Given the description of an element on the screen output the (x, y) to click on. 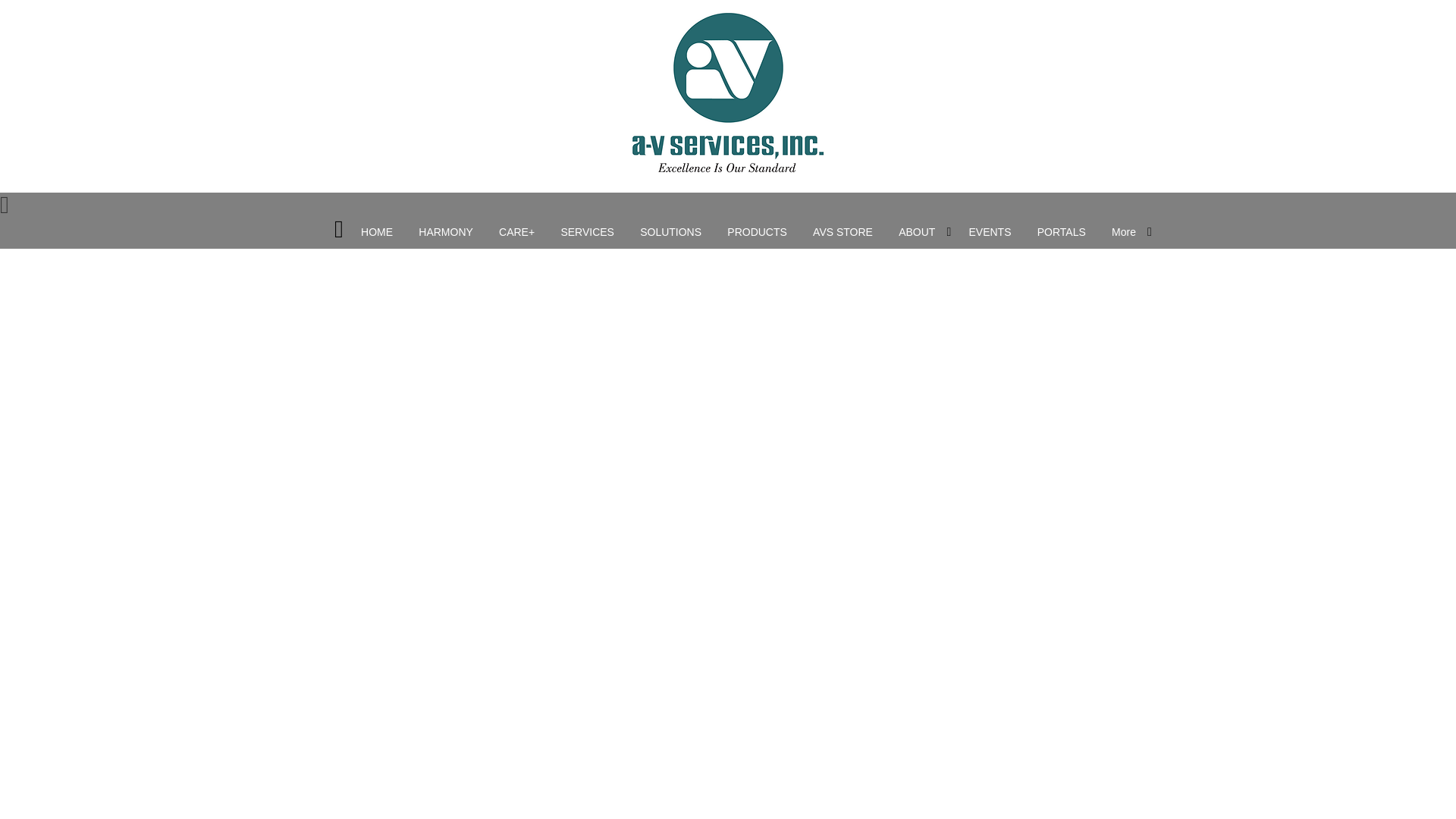
ABOUT (916, 232)
SERVICES (587, 232)
HOME (376, 232)
More (1123, 232)
EVENTS (989, 232)
HARMONY (445, 232)
PORTALS (1061, 232)
AVS STORE (842, 232)
SOLUTIONS (670, 232)
PRODUCTS (756, 232)
